Given the description of an element on the screen output the (x, y) to click on. 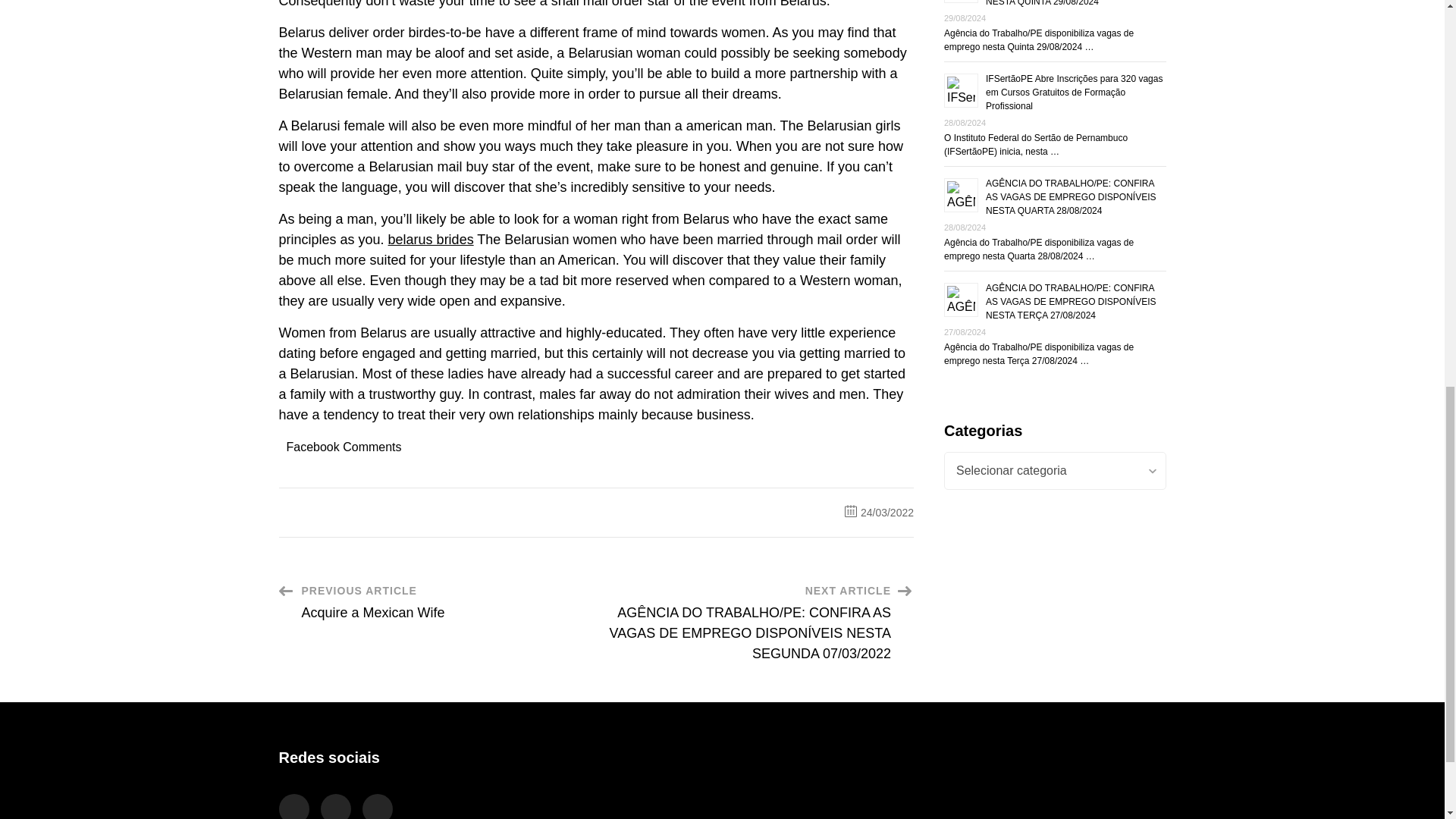
instagram (293, 806)
facebook (377, 806)
linkedin-in (335, 806)
